Given the description of an element on the screen output the (x, y) to click on. 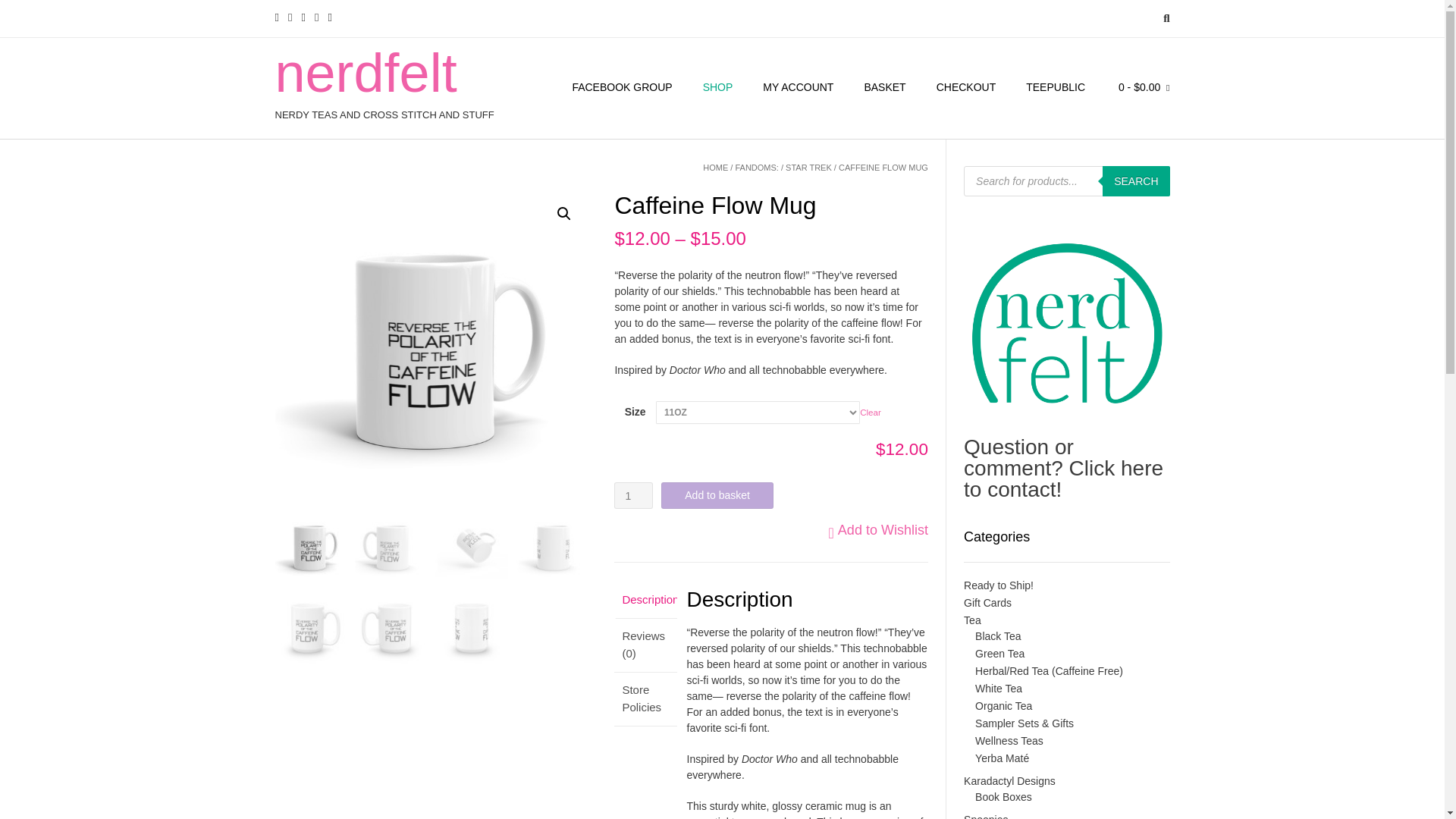
CHECKOUT (966, 87)
MY ACCOUNT (798, 87)
Add to Wishlist (878, 530)
Add to basket (717, 495)
1 (633, 495)
Clear (870, 411)
nerdfelt (384, 72)
FANDOMS: (756, 166)
HOME (715, 166)
nerdfelt (384, 72)
FACEBOOK GROUP (621, 87)
STAR TREK (808, 166)
